Given the description of an element on the screen output the (x, y) to click on. 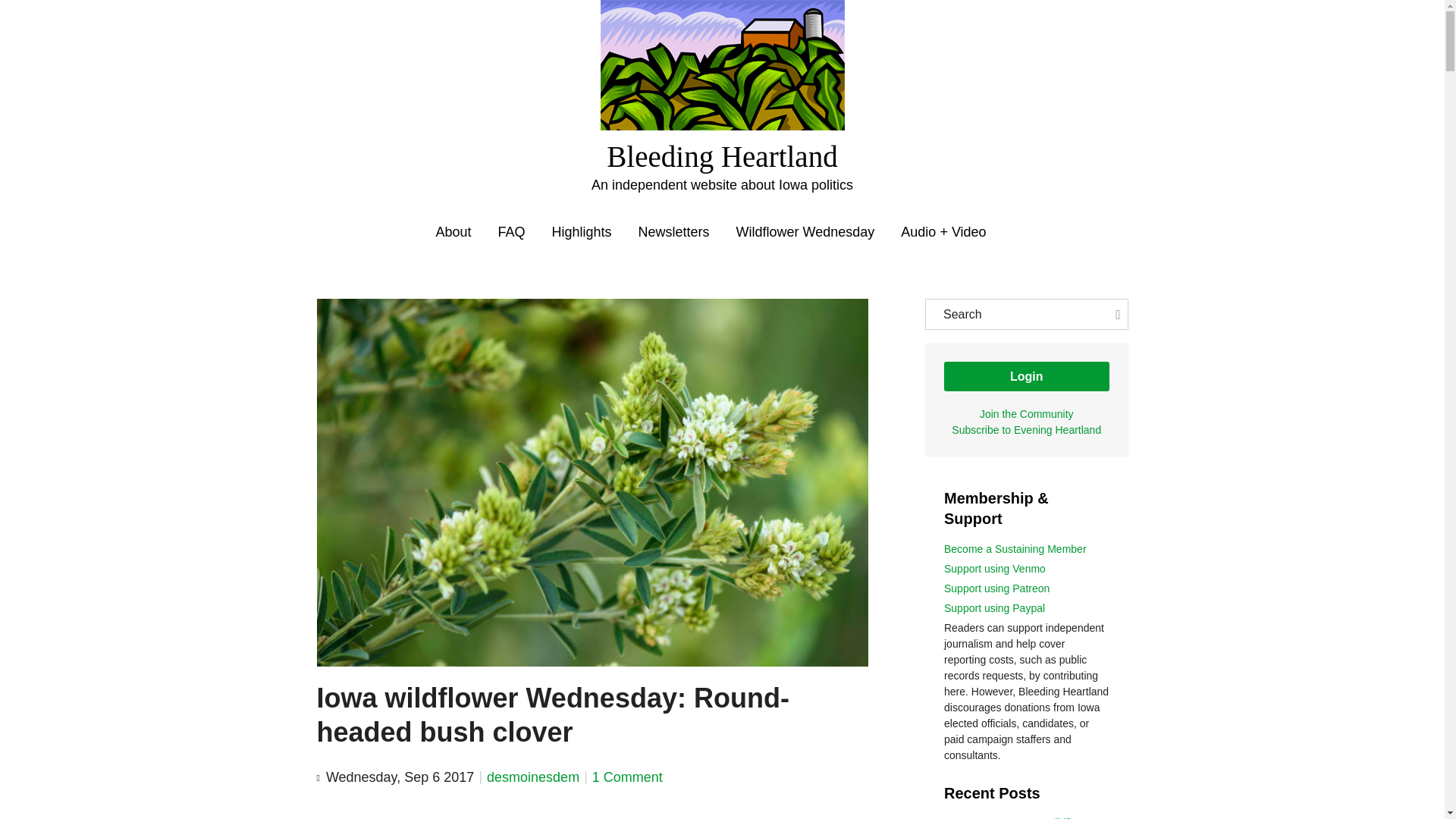
FAQ (510, 231)
desmoinesdem (532, 776)
Highlights (581, 231)
Newsletters (674, 231)
comments (627, 776)
Posts by desmoinesdem (532, 776)
About (452, 231)
1 Comment (627, 776)
Wildflower Wednesday (805, 231)
